Given the description of an element on the screen output the (x, y) to click on. 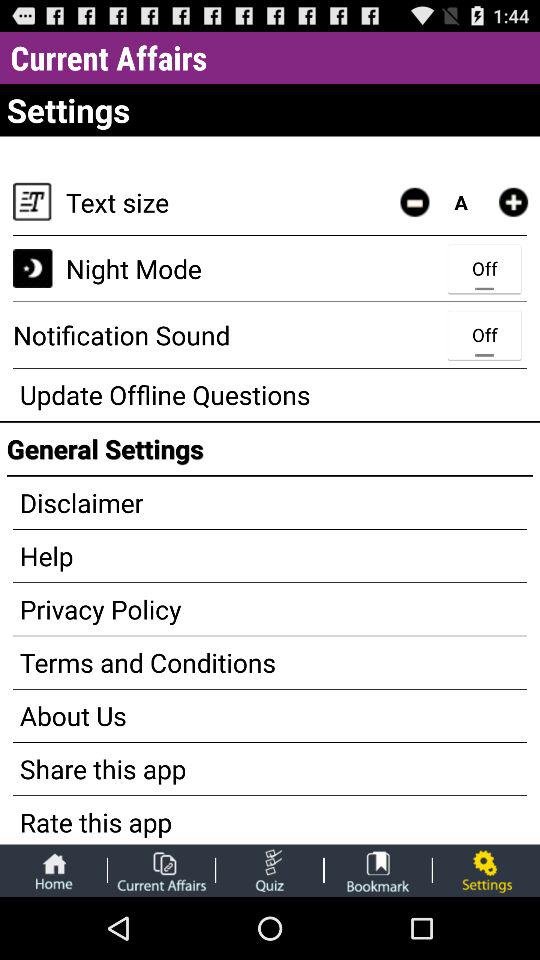
choose icon next to a item (513, 202)
